Given the description of an element on the screen output the (x, y) to click on. 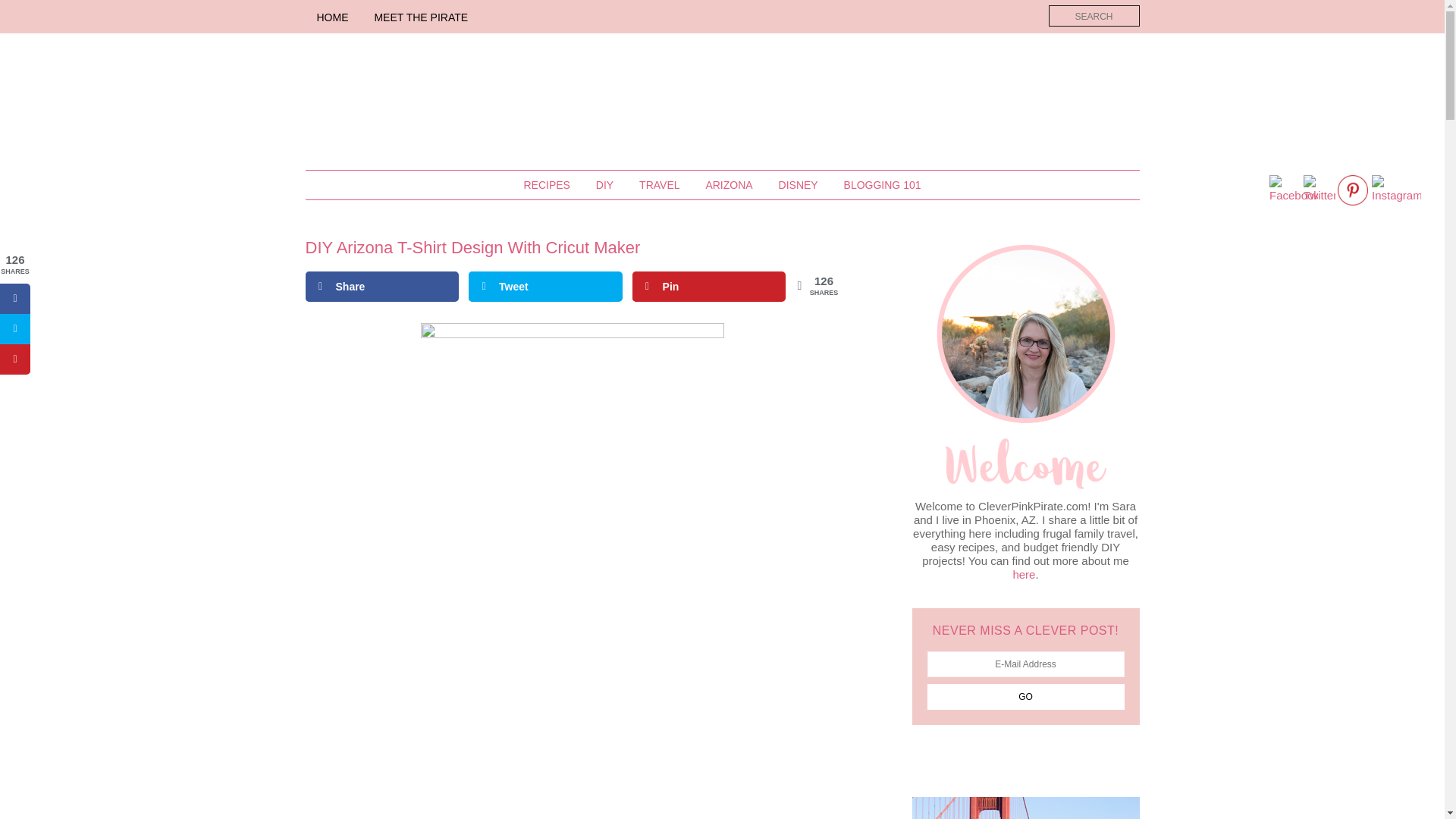
Twitter (1319, 189)
Share (381, 286)
Go (1025, 696)
Tweet (545, 286)
MEET THE PIRATE (420, 17)
Instagram (1396, 189)
Facebook (1293, 189)
RECIPES (546, 184)
Pin (708, 286)
DISNEY (798, 184)
DIY (604, 184)
Pinterest (1353, 190)
